Given the description of an element on the screen output the (x, y) to click on. 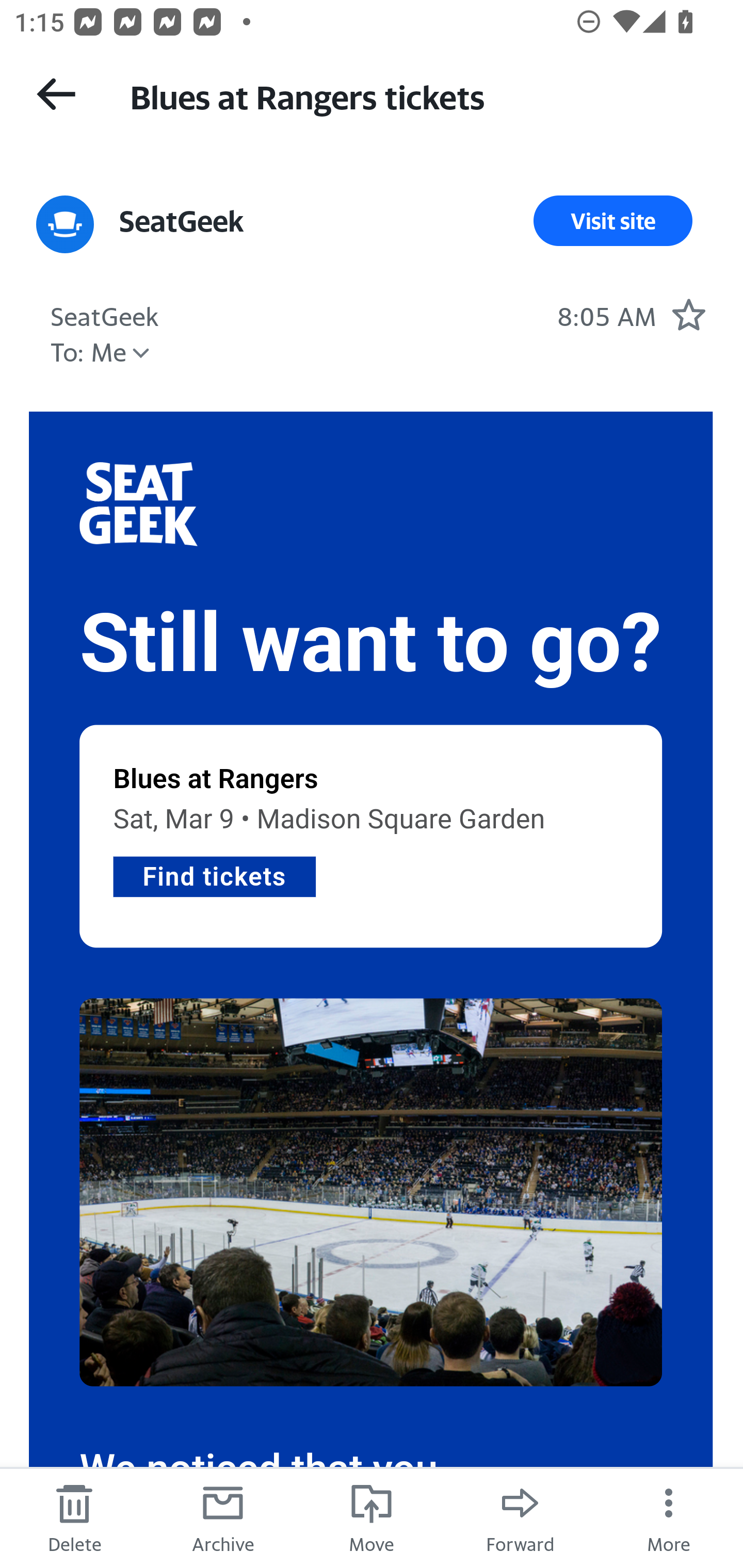
Back (55, 93)
Blues at Rangers tickets (418, 94)
View all messages from sender (64, 225)
Visit site Visit Site Link (612, 221)
SeatGeek Sender SeatGeek (181, 220)
SeatGeek Sender SeatGeek (104, 314)
Mark as starred. (688, 314)
Still want to go? (370, 643)
Blues at Rangers (215, 779)
Find tickets (213, 875)
Delete (74, 1517)
Archive (222, 1517)
Move (371, 1517)
Forward (519, 1517)
More (668, 1517)
